Given the description of an element on the screen output the (x, y) to click on. 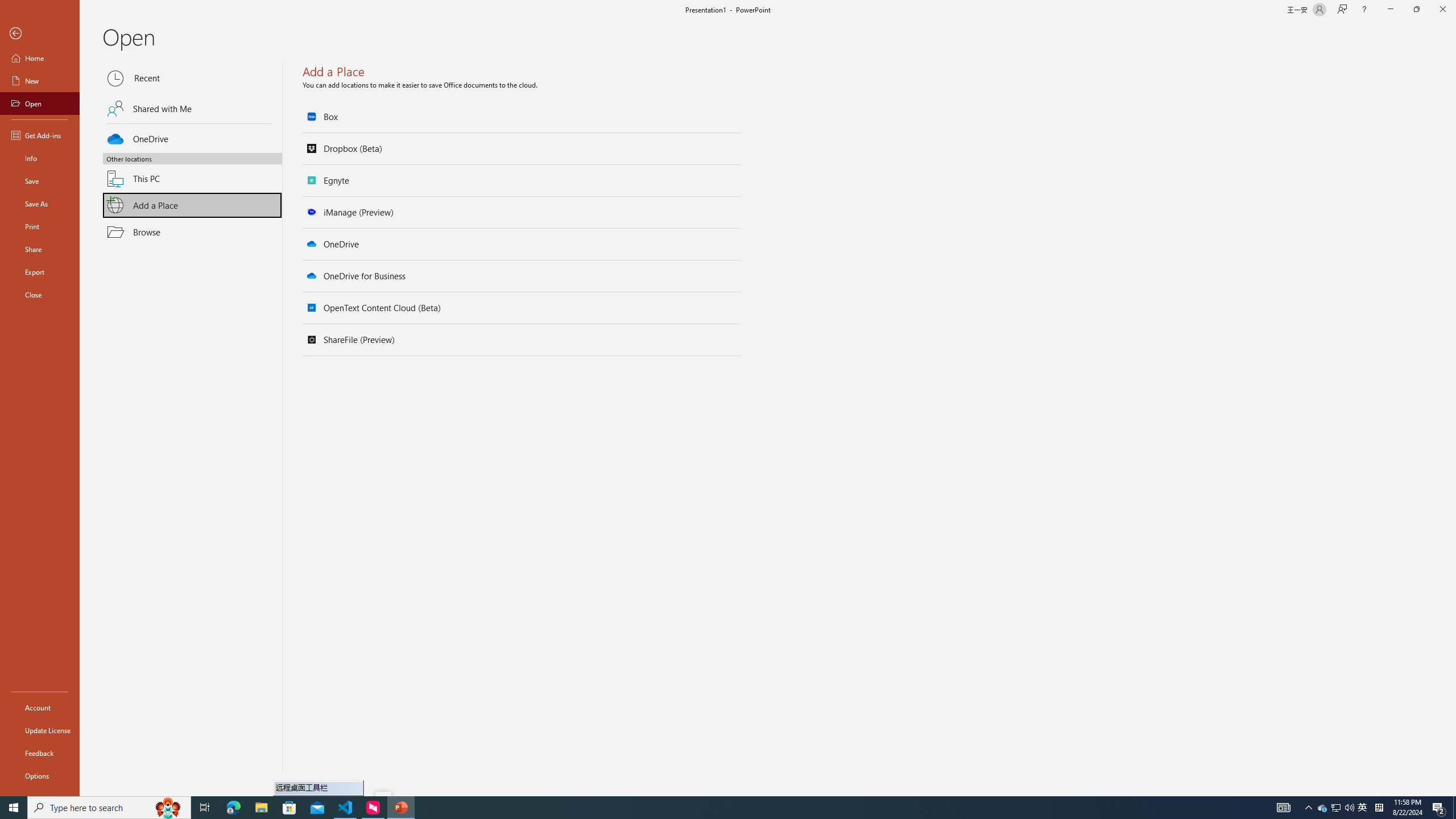
Recent (192, 78)
New (40, 80)
This PC (192, 171)
OneDrive for Business (521, 276)
Browse (192, 231)
Box (521, 116)
Egnyte (521, 180)
Options (40, 775)
Account (40, 707)
